Given the description of an element on the screen output the (x, y) to click on. 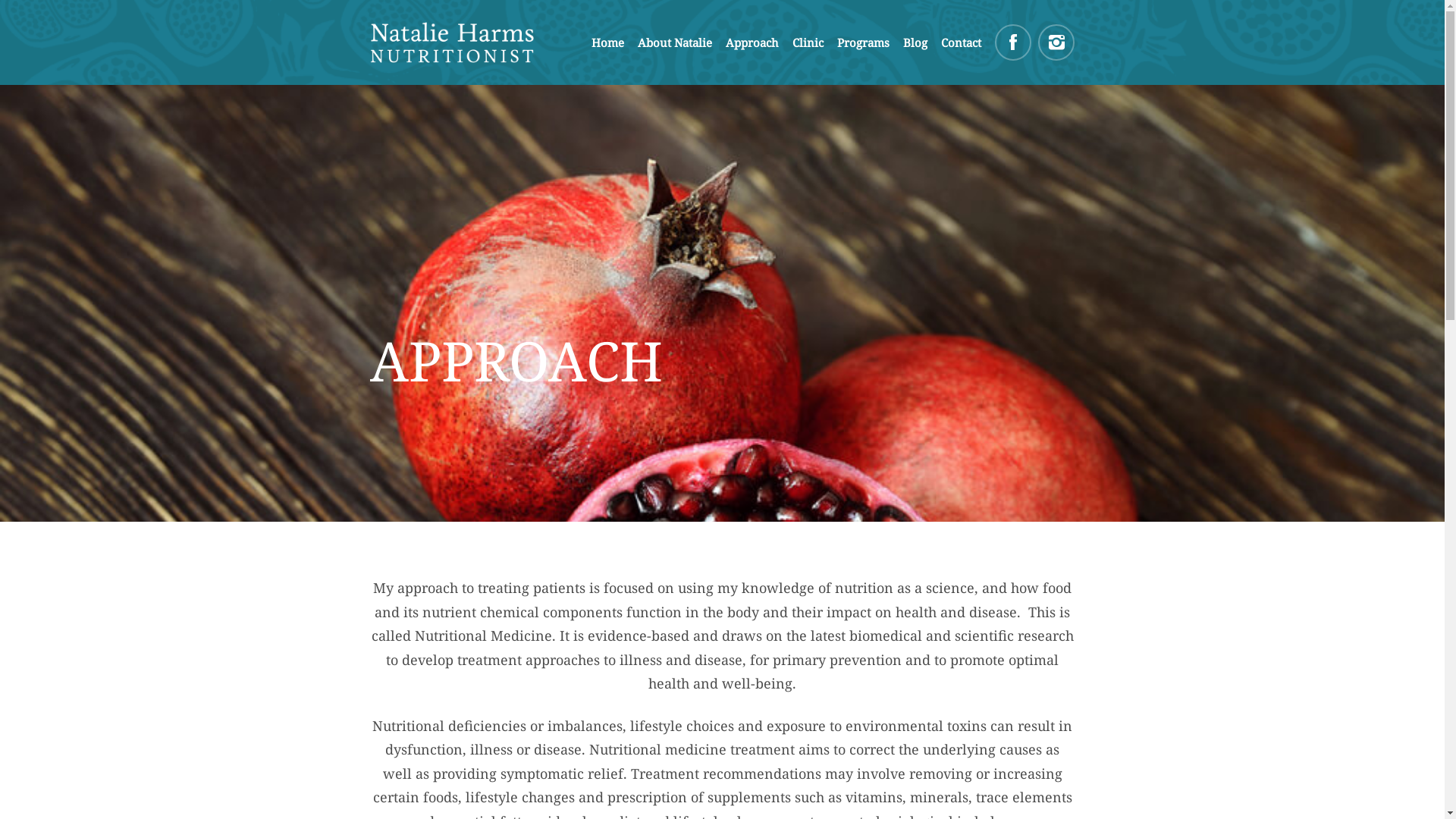
About Natalie Element type: text (674, 42)
Clinic Element type: text (807, 42)
Approach Element type: text (751, 42)
Contact Element type: text (961, 42)
Facebook Element type: text (1012, 42)
Instagram Element type: text (1056, 42)
Natalie Harms Nutritionist Element type: hover (459, 42)
Home Element type: text (607, 42)
Blog Element type: text (915, 42)
Programs Element type: text (863, 42)
